Given the description of an element on the screen output the (x, y) to click on. 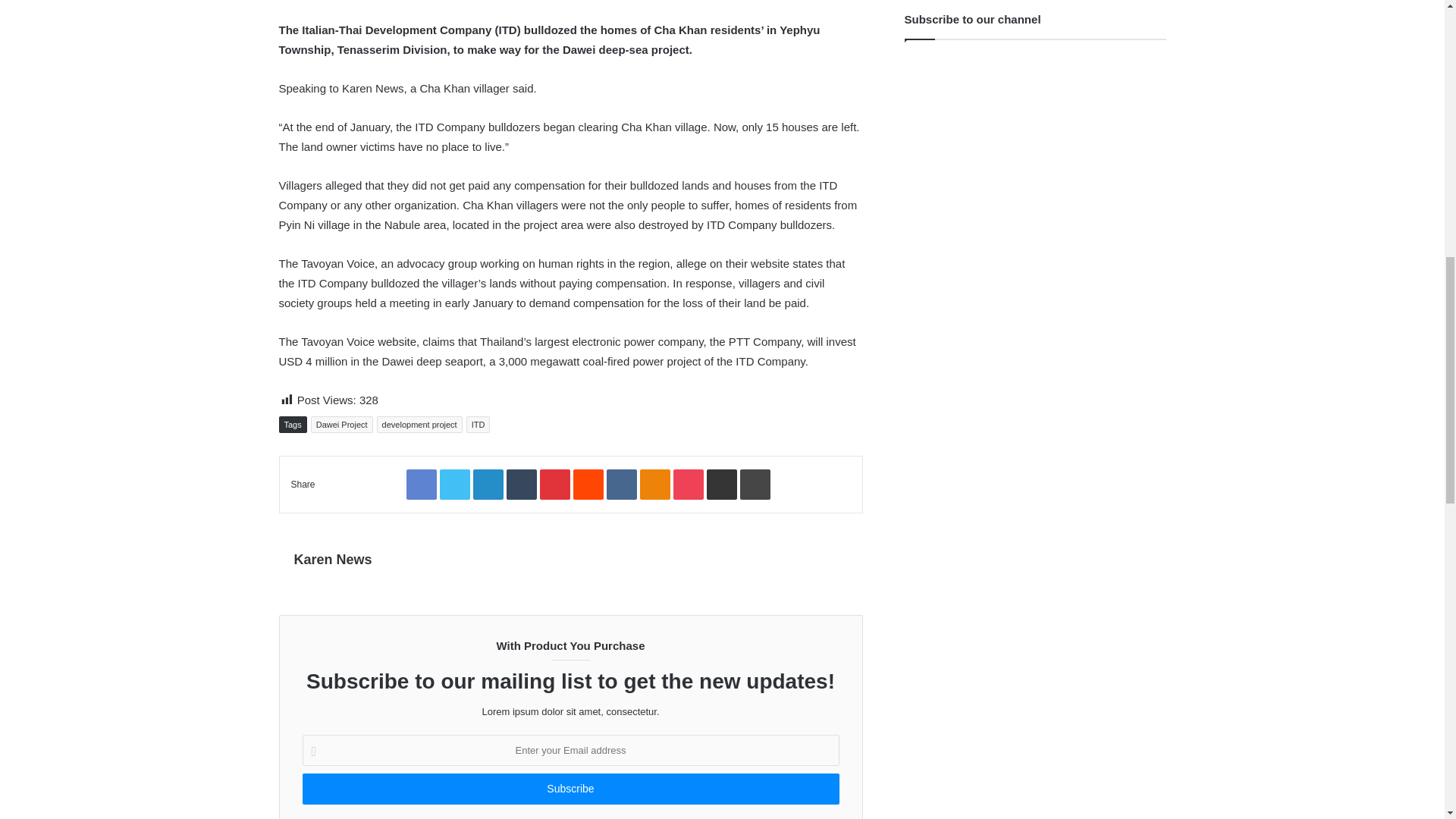
Pinterest (555, 484)
Subscribe (569, 788)
Facebook (421, 484)
Twitter (454, 484)
ITD (477, 424)
Dawei Project (341, 424)
Tumblr (521, 484)
LinkedIn (488, 484)
development project (420, 424)
